Given the description of an element on the screen output the (x, y) to click on. 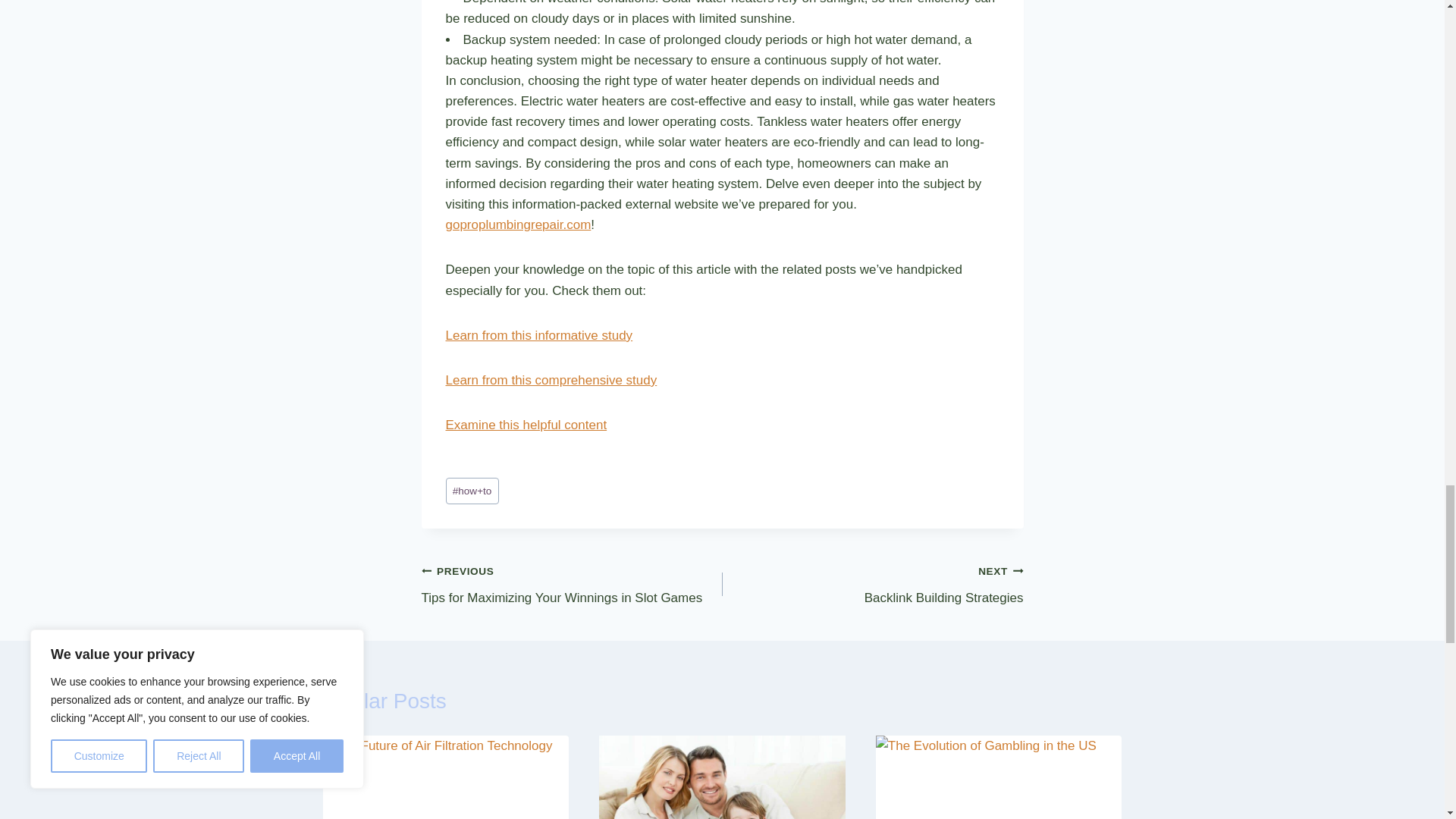
Learn from this informative study (572, 584)
goproplumbingrepair.com (539, 335)
Learn from this comprehensive study (518, 224)
Examine this helpful content (551, 380)
